Given the description of an element on the screen output the (x, y) to click on. 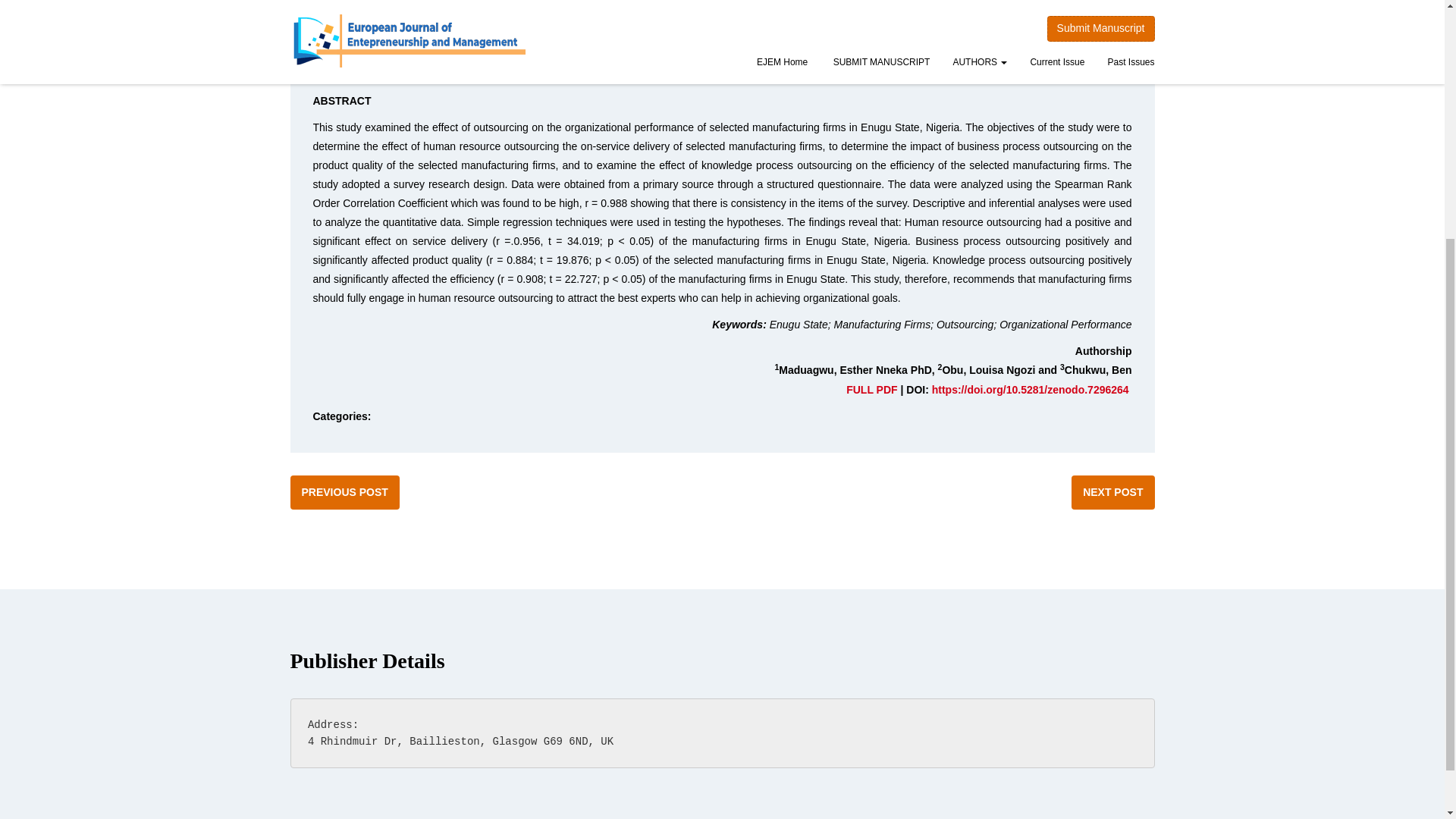
NEXT POST (1112, 491)
Ejem (377, 70)
Posts by ejem (377, 70)
PREVIOUS POST (344, 491)
FULL PDF (870, 389)
